Given the description of an element on the screen output the (x, y) to click on. 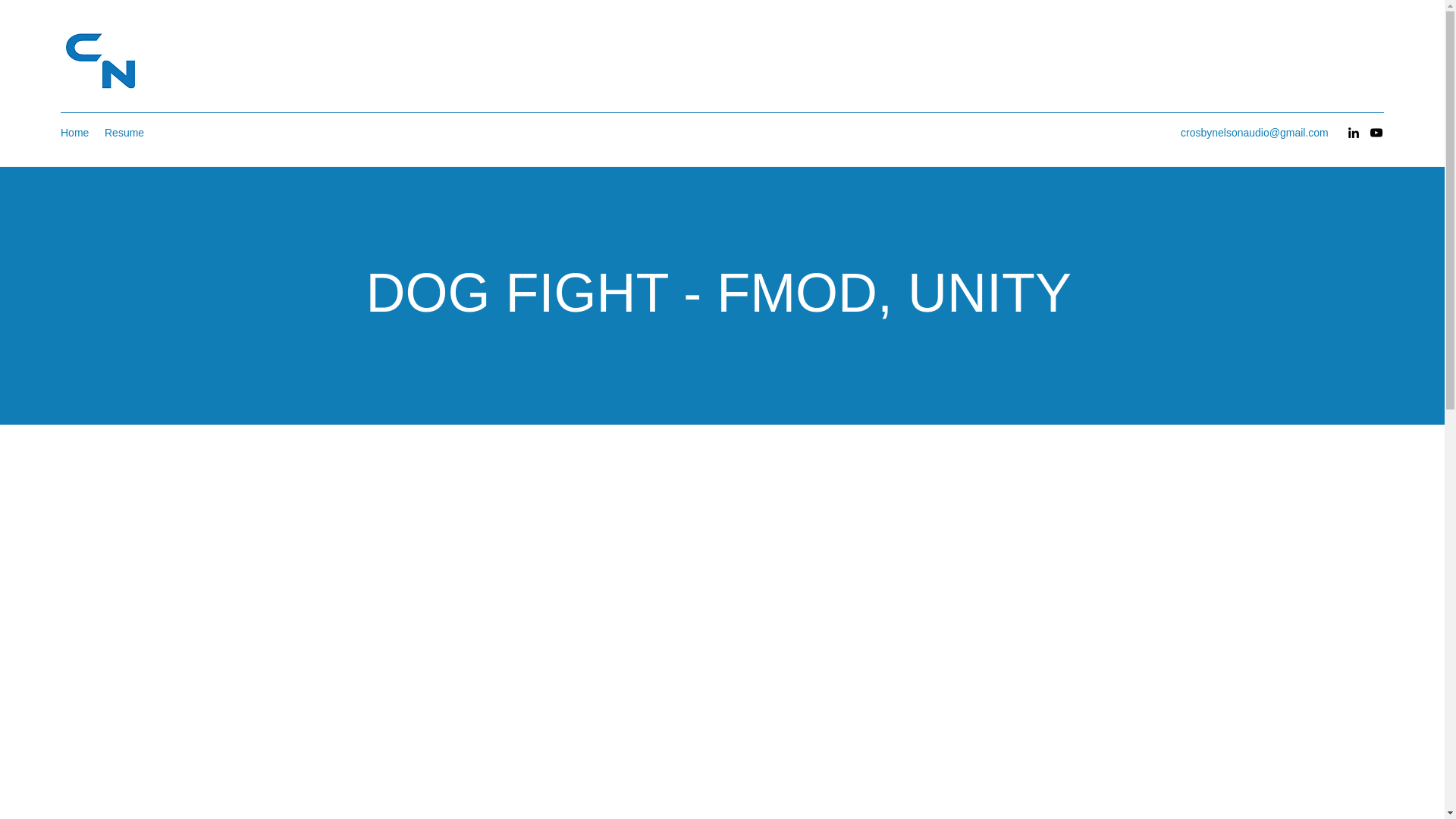
Home (74, 132)
Resume (123, 132)
